Given the description of an element on the screen output the (x, y) to click on. 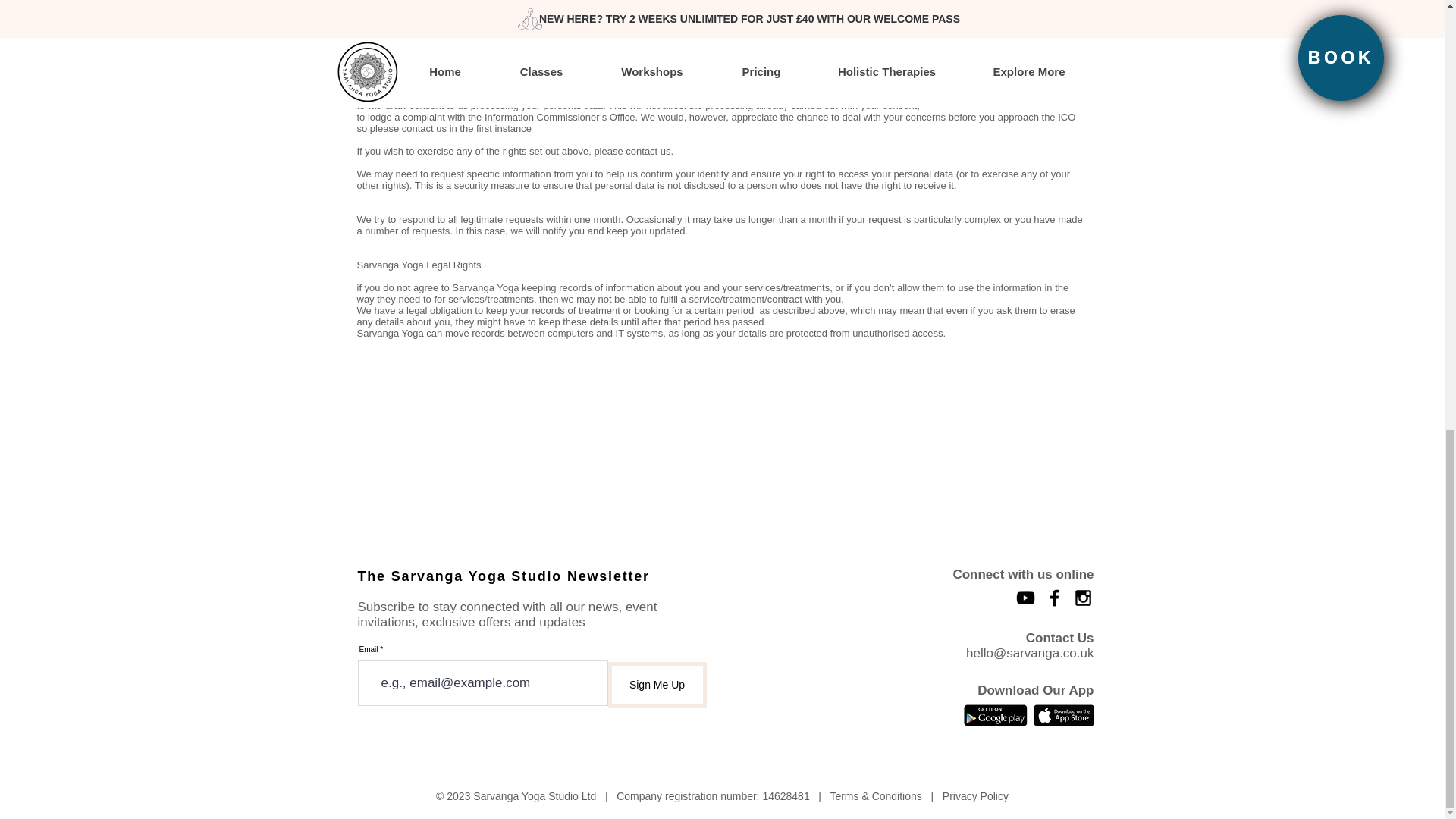
Download our free studio app (994, 715)
Sign Me Up (657, 684)
Download our free studio app (1062, 715)
